Given the description of an element on the screen output the (x, y) to click on. 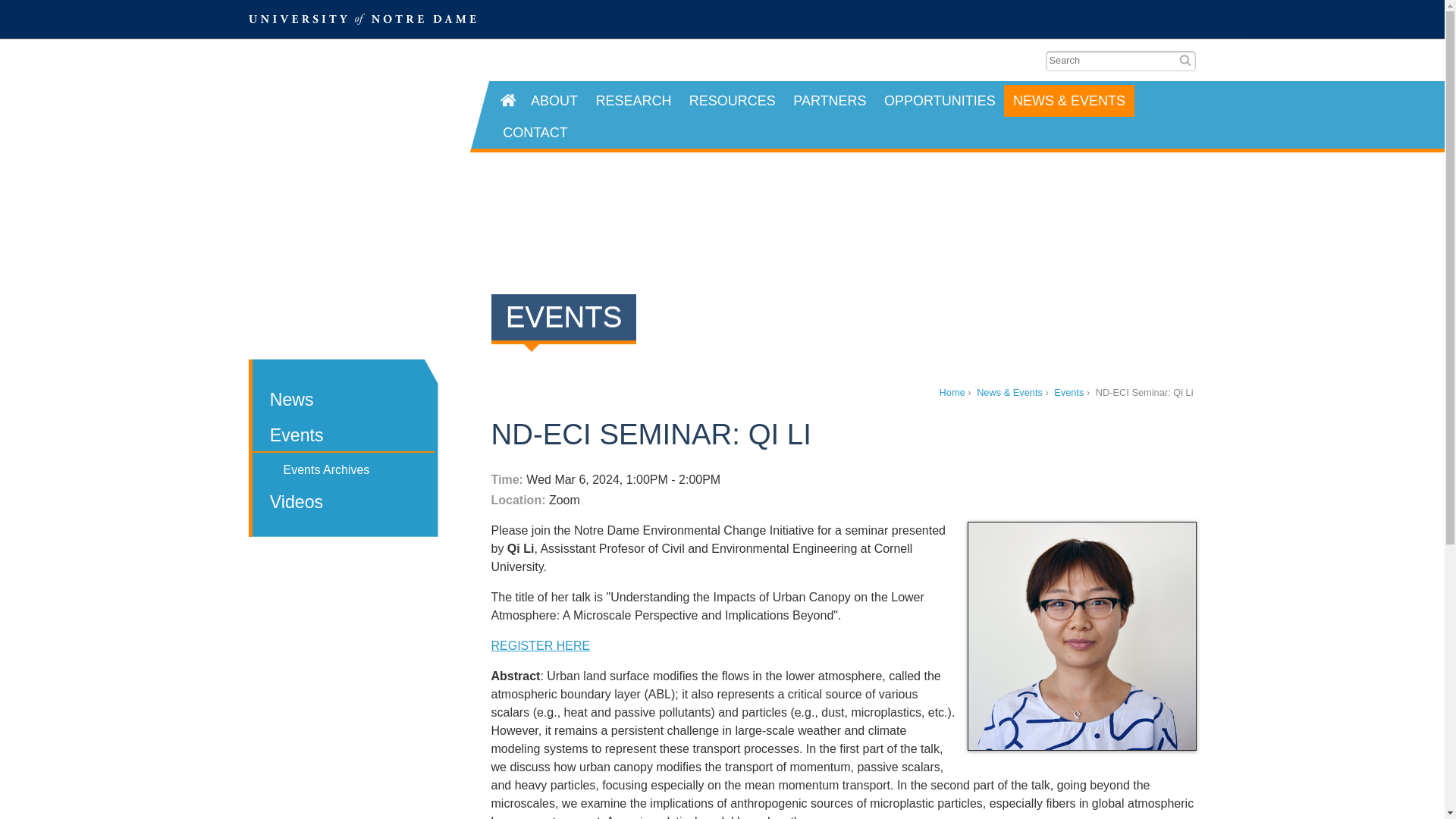
Wed Mar  6, 2024  1:00PM -  2:00PM (838, 479)
ABOUT (553, 101)
CONTACT (535, 132)
Notre Dame Research (1098, 18)
OPPORTUNITIES (939, 101)
Events Archives (342, 471)
RESOURCES (731, 101)
News (342, 400)
RESEARCH (632, 101)
University Notre Dame (362, 18)
ENVIRONMENTAL CHANGE INITIATIVE (348, 116)
Events (342, 436)
Events (1068, 392)
Videos (342, 503)
PARTNERS (830, 101)
